Given the description of an element on the screen output the (x, y) to click on. 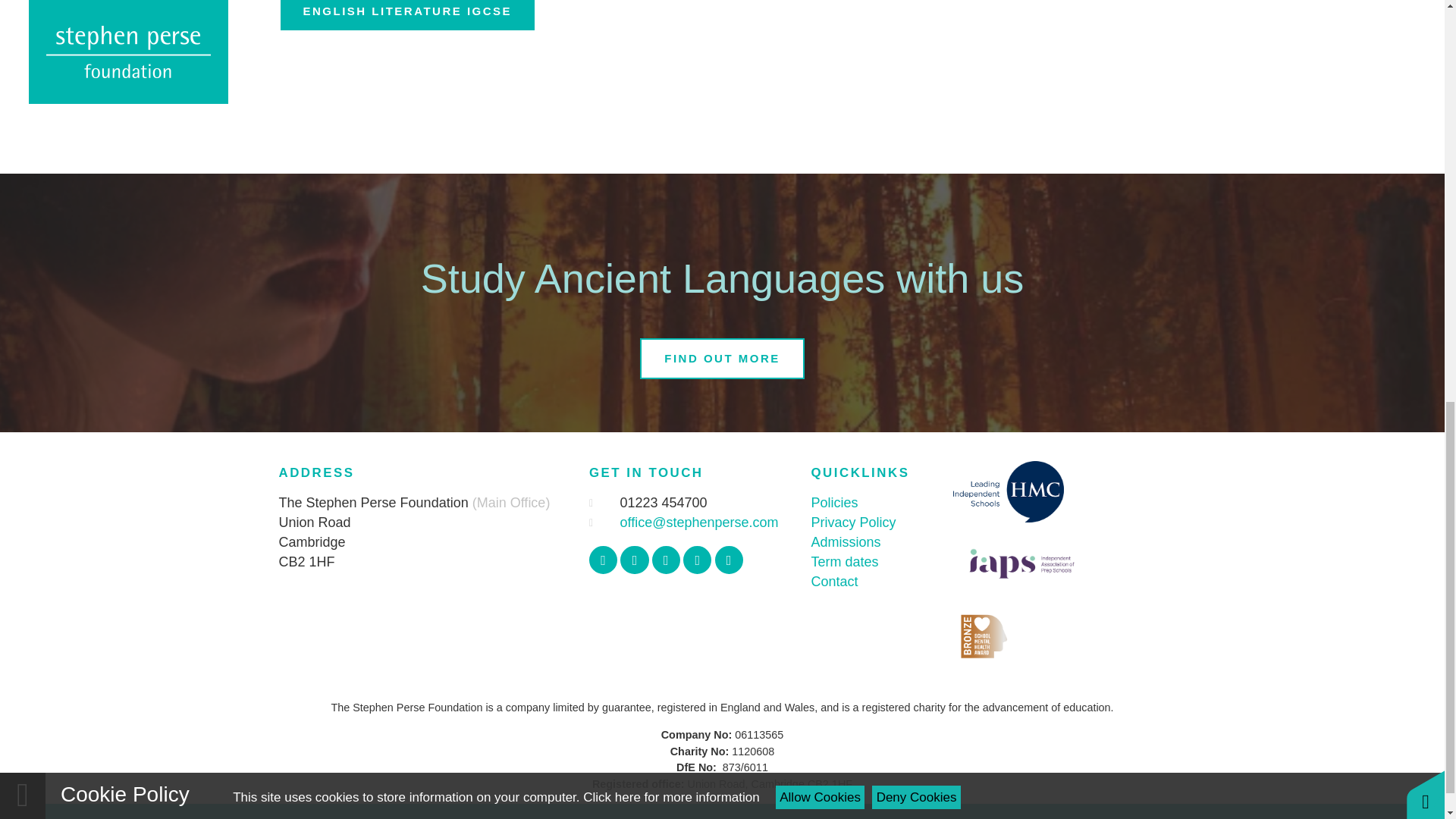
YouTube (696, 560)
Instagram (665, 560)
LinkedIn (728, 560)
Twitter (633, 560)
Find out more (722, 358)
Facebook (603, 560)
